Given the description of an element on the screen output the (x, y) to click on. 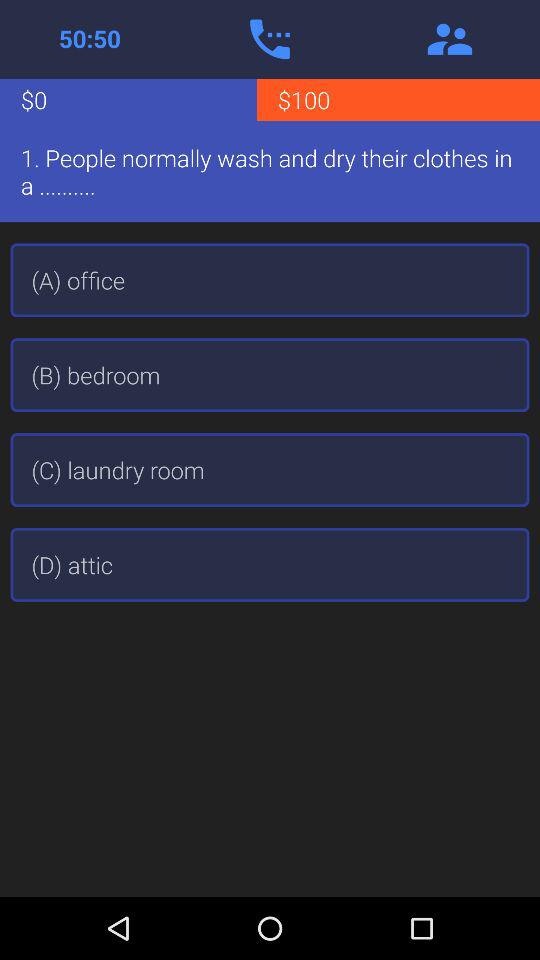
open app below (c) laundry room item (269, 564)
